Given the description of an element on the screen output the (x, y) to click on. 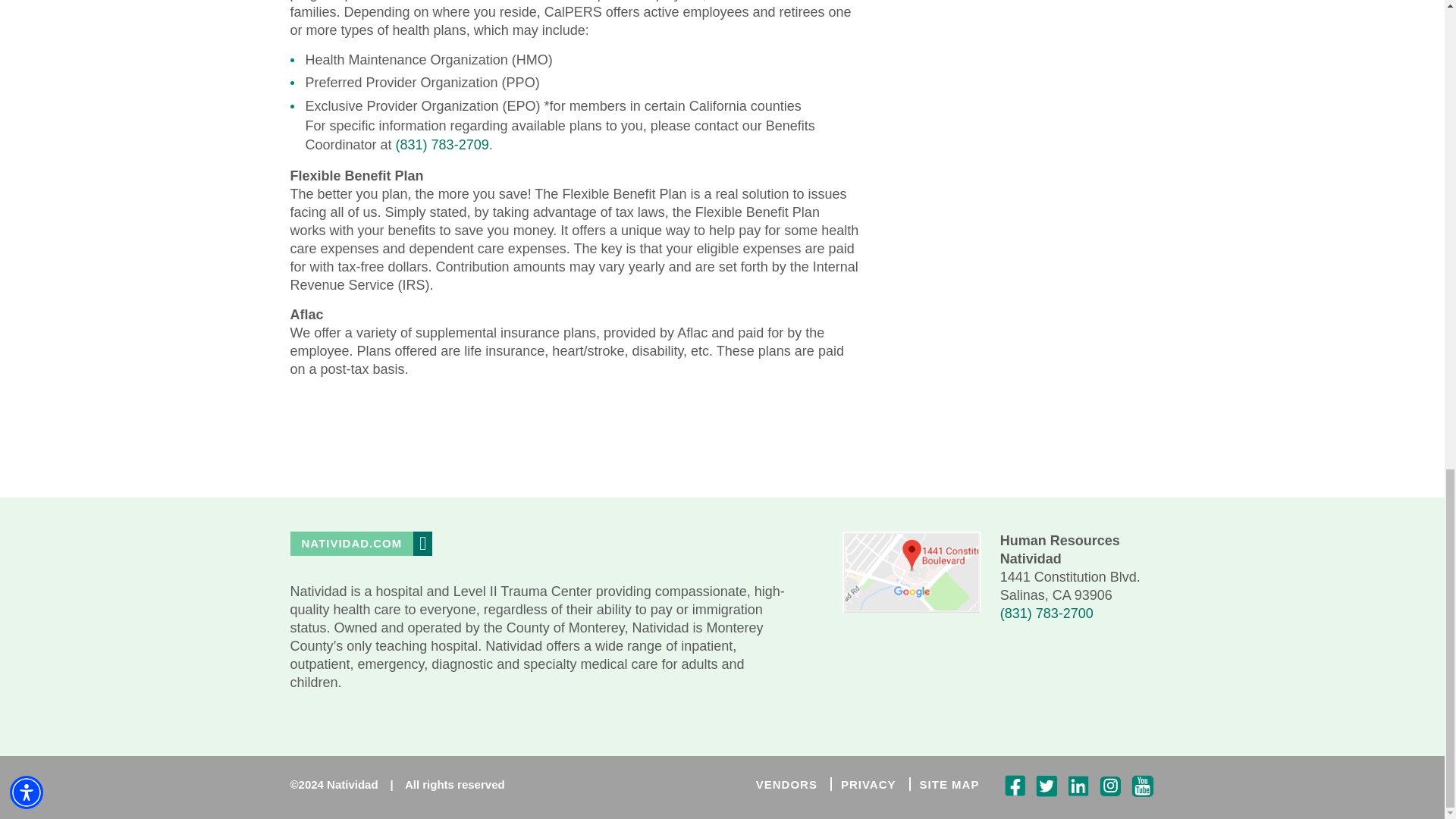
PRIVACY (868, 784)
VENDORS (785, 784)
twitter (1046, 784)
facebook (1014, 784)
NATIVIDAD.COM (351, 543)
linkedin (1078, 784)
SITE MAP (949, 784)
instagram (1110, 784)
youtube (1142, 784)
